Given the description of an element on the screen output the (x, y) to click on. 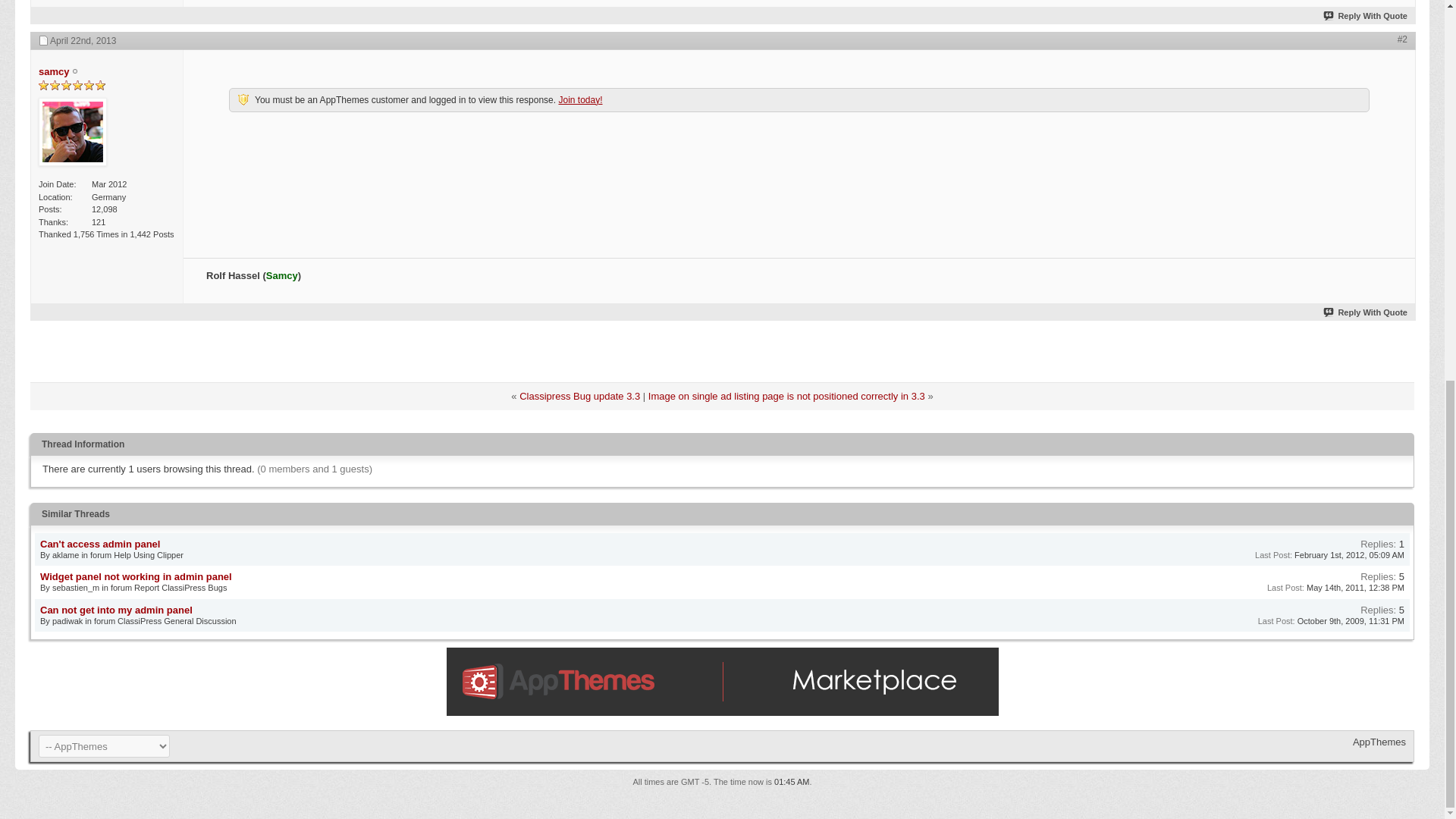
Can't access admin panel (100, 543)
samcy is offline (72, 132)
samcy is offline (53, 71)
Classipress Bug update 3.3 (579, 396)
Reply With Quote (1364, 15)
Join today! (579, 100)
Reply With Quote (1364, 311)
